Given the description of an element on the screen output the (x, y) to click on. 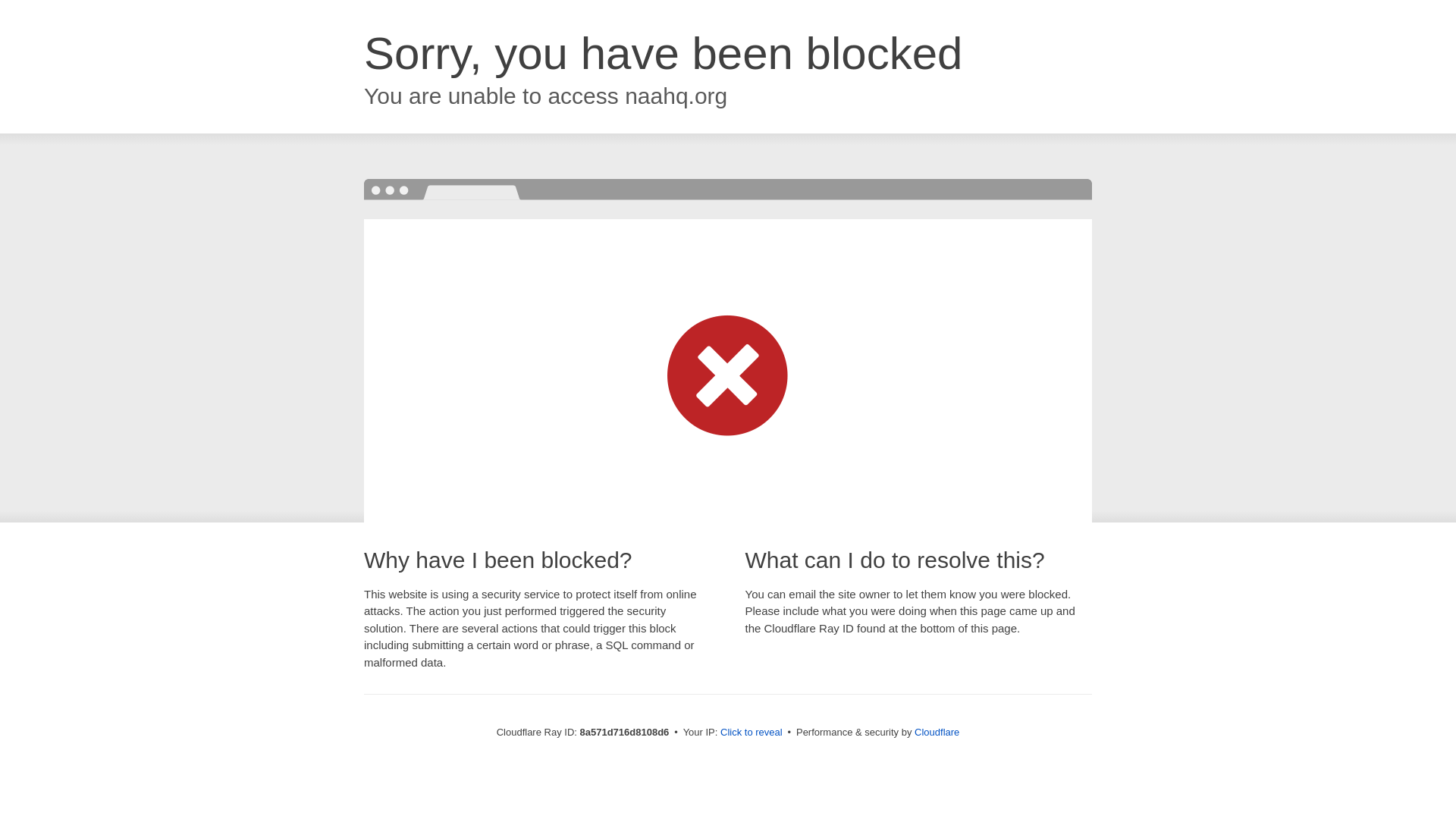
Click to reveal (751, 732)
Cloudflare (936, 731)
